Given the description of an element on the screen output the (x, y) to click on. 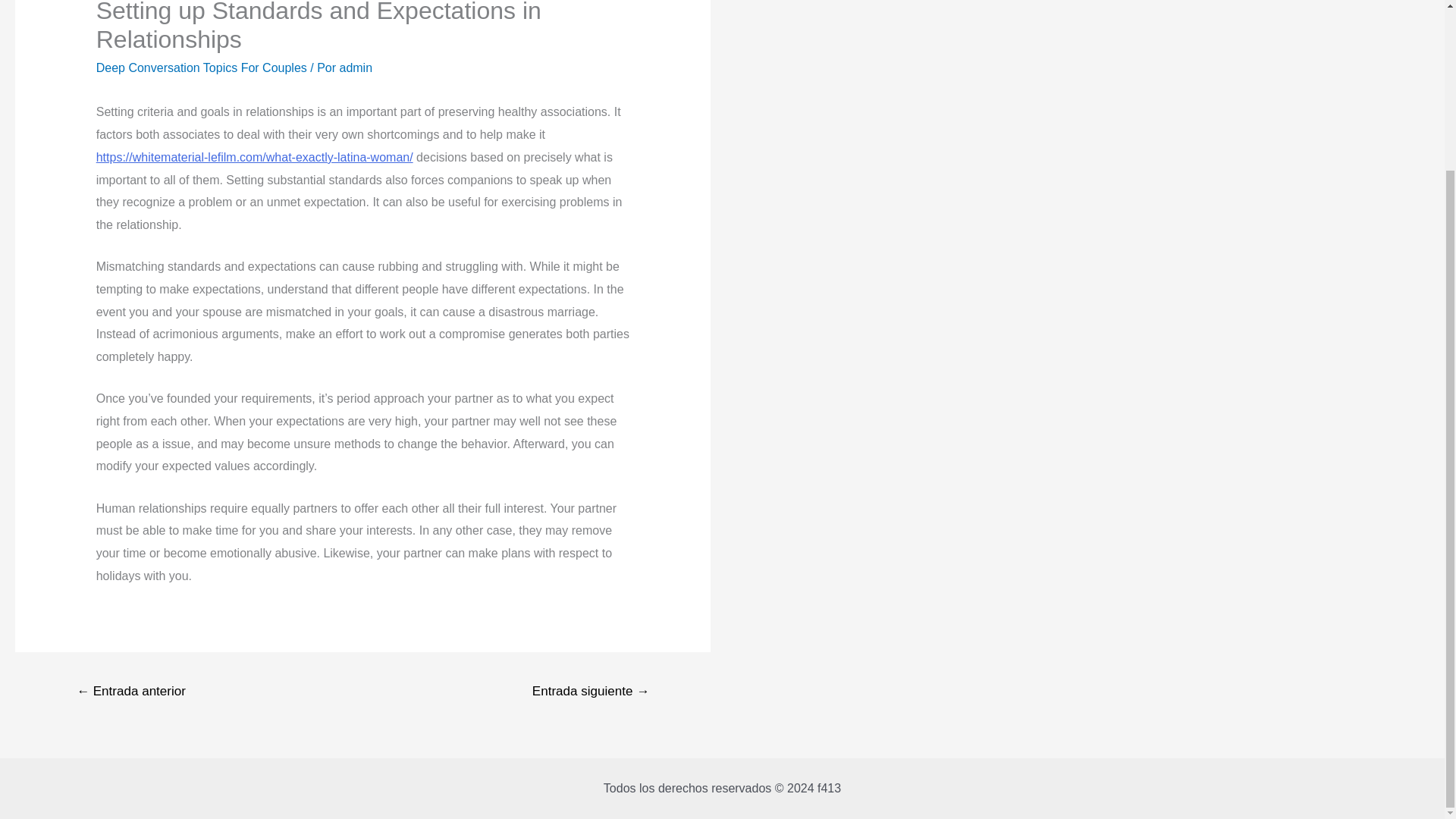
admin (355, 67)
Ver todas las entradas de admin (355, 67)
Deep Conversation Topics For Couples (201, 67)
